Given the description of an element on the screen output the (x, y) to click on. 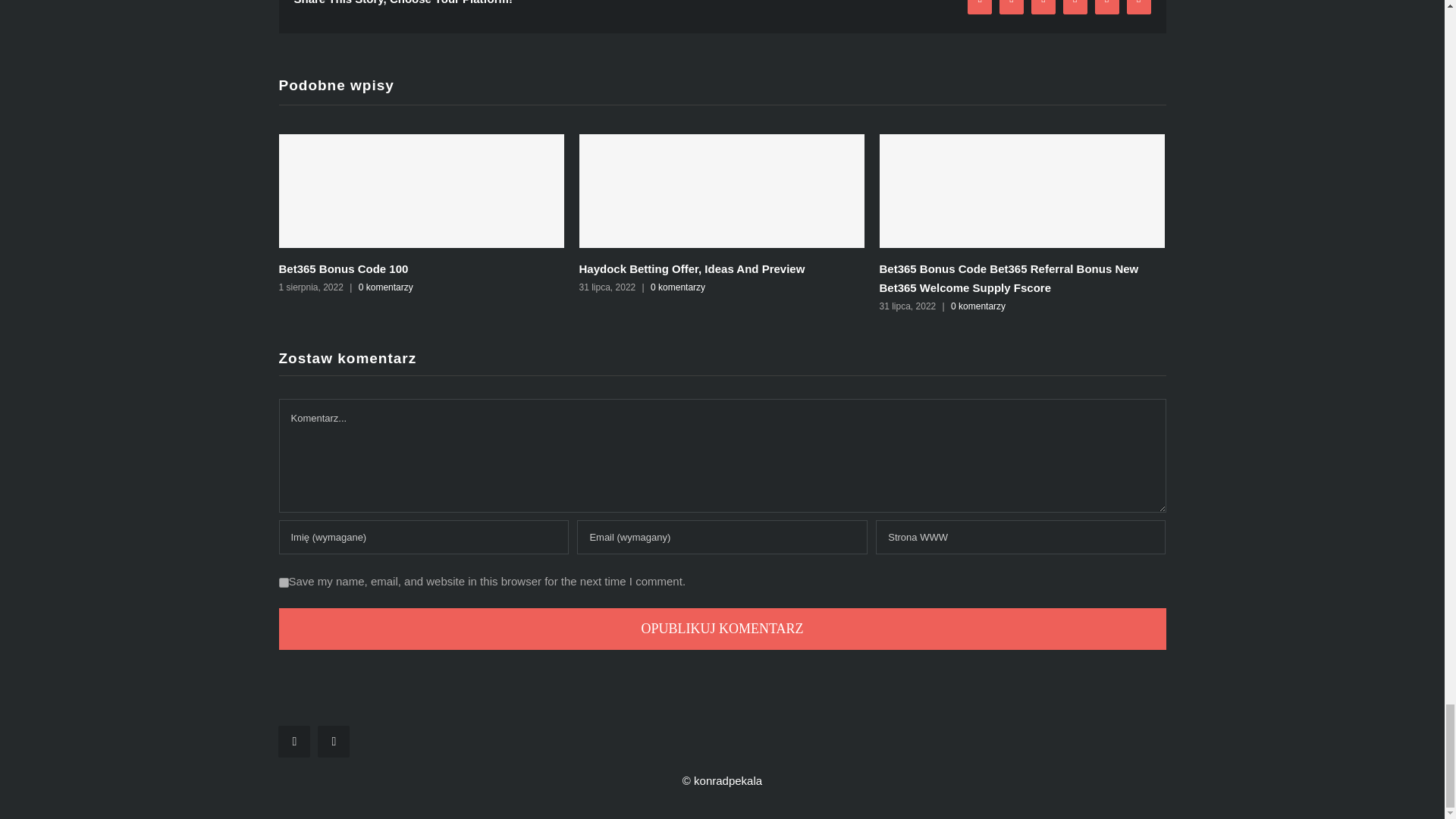
Pinterest (1106, 7)
0 komentarzy (978, 306)
Haydock Betting Offer, Ideas And Preview (692, 268)
Twitter (1010, 7)
Email (1138, 7)
Bet365 Bonus Code 100 (344, 268)
LinkedIn (1074, 7)
Reddit (1042, 7)
0 komentarzy (385, 286)
Facebook (979, 7)
0 komentarzy (677, 286)
Opublikuj komentarz (722, 629)
Haydock Betting Offer, Ideas And Preview (692, 268)
